Given the description of an element on the screen output the (x, y) to click on. 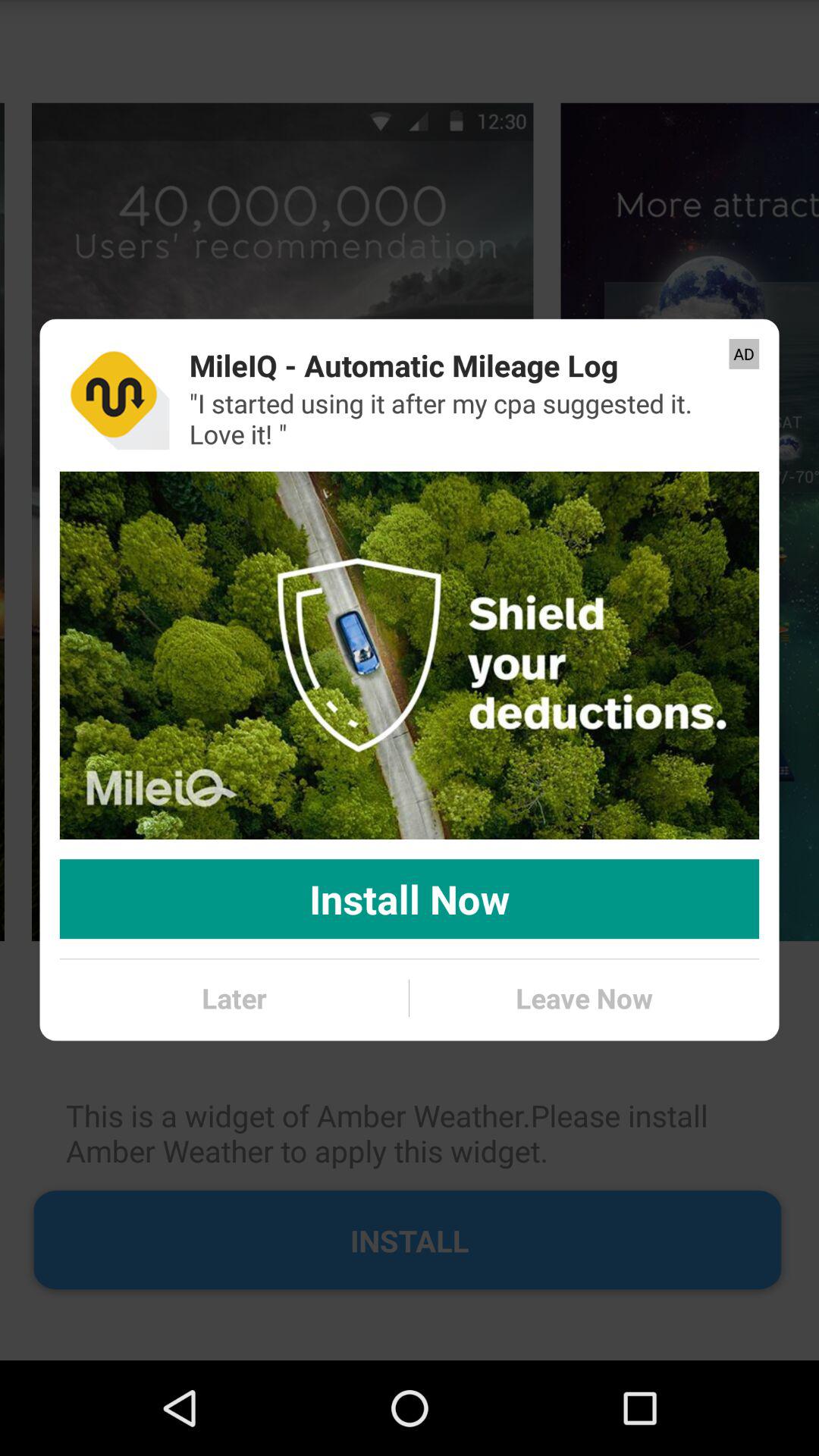
swipe to the leave now icon (584, 997)
